Given the description of an element on the screen output the (x, y) to click on. 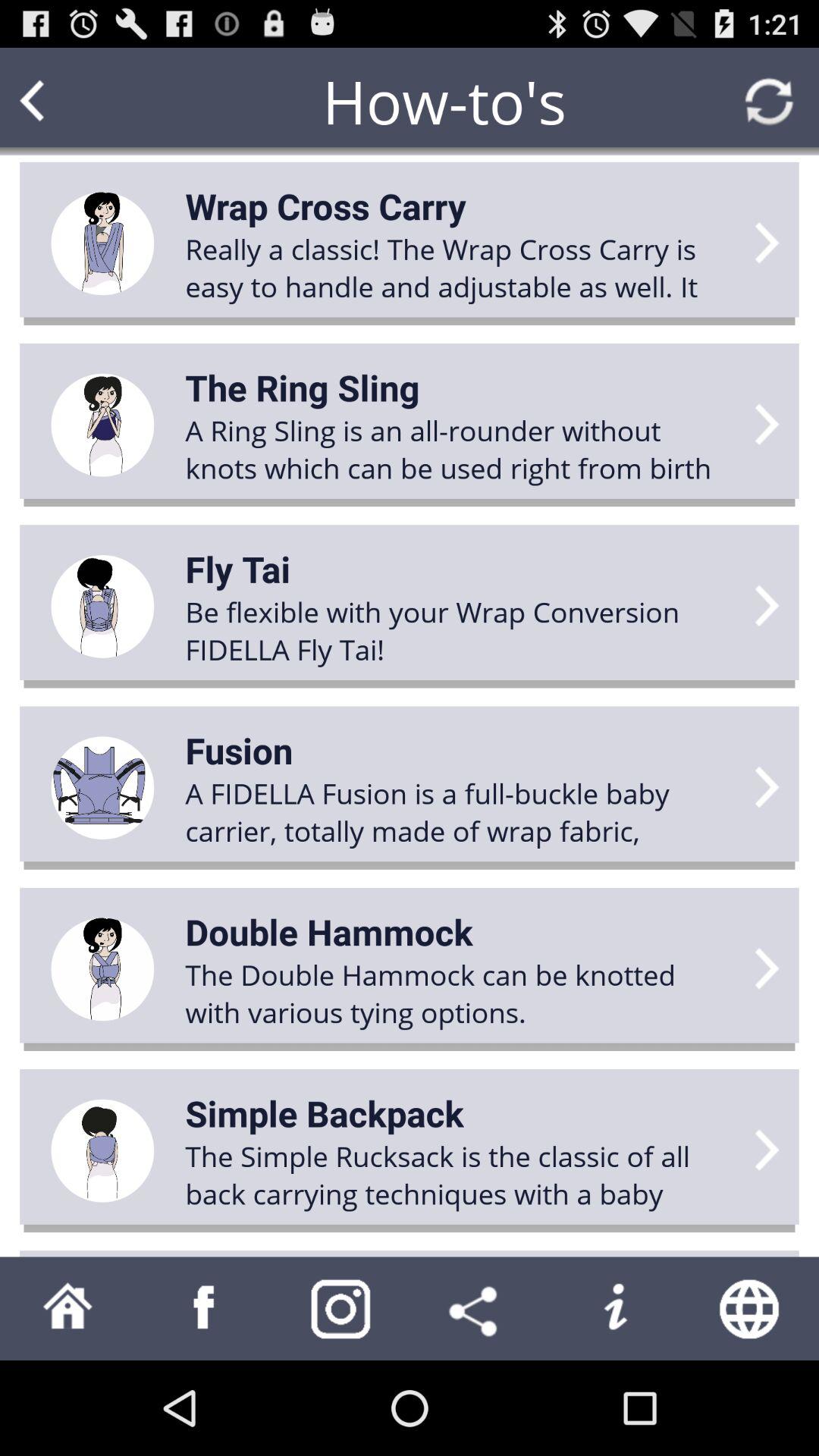
launch the app below the the simple rucksack (477, 1308)
